Given the description of an element on the screen output the (x, y) to click on. 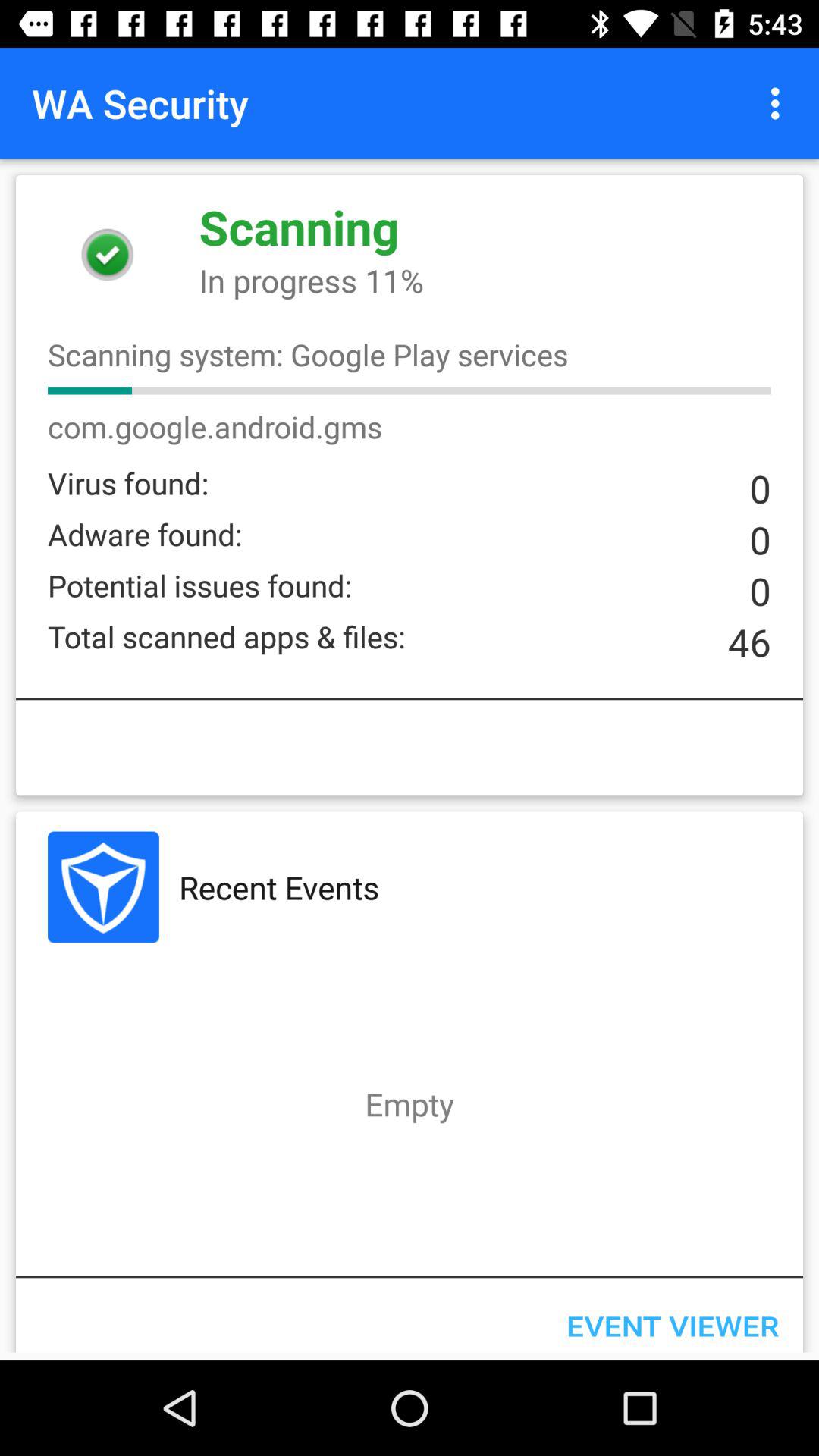
select item above in progress 11% item (779, 103)
